Given the description of an element on the screen output the (x, y) to click on. 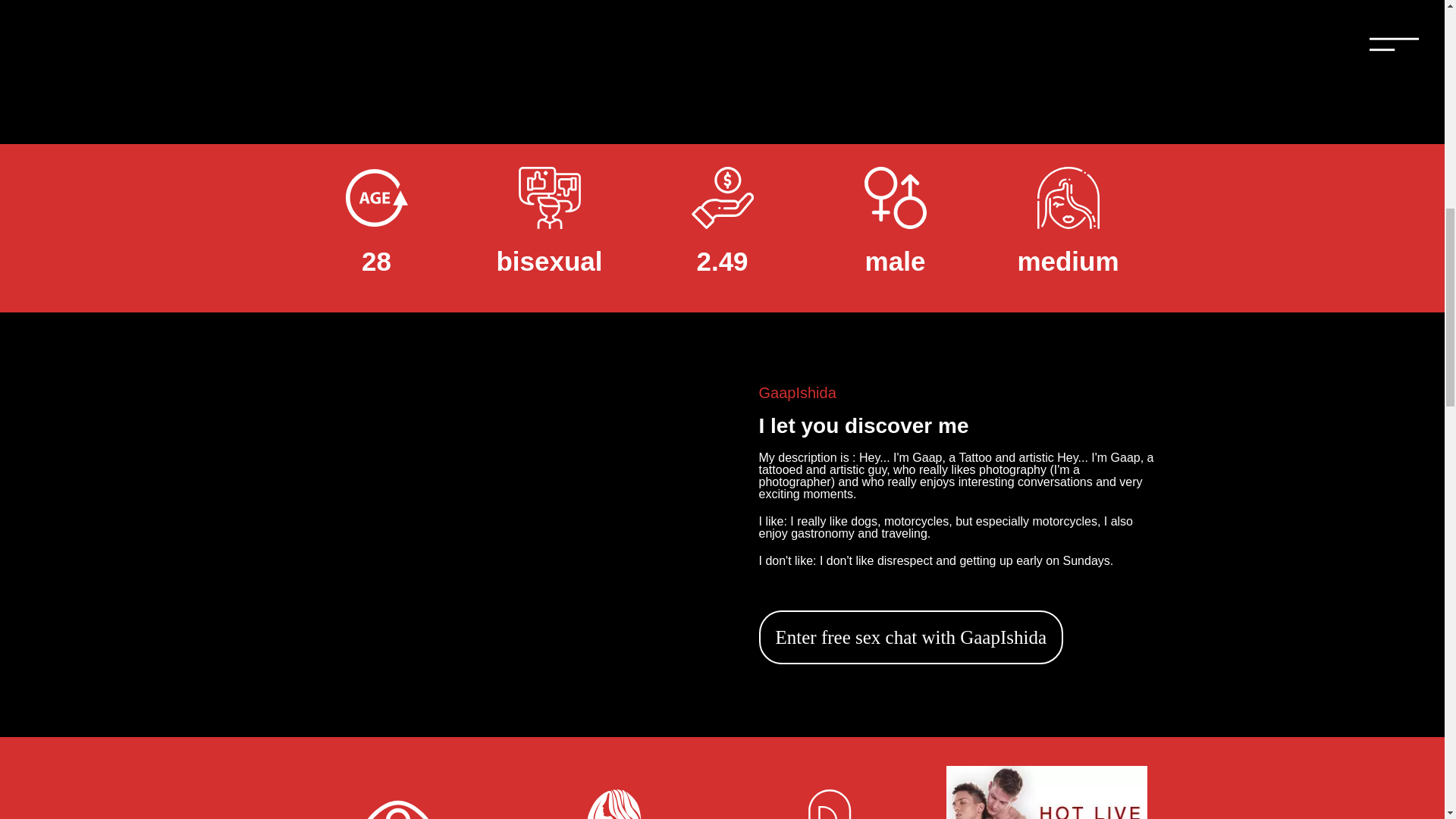
Enter free sex chat with GaapIshida (910, 637)
